Given the description of an element on the screen output the (x, y) to click on. 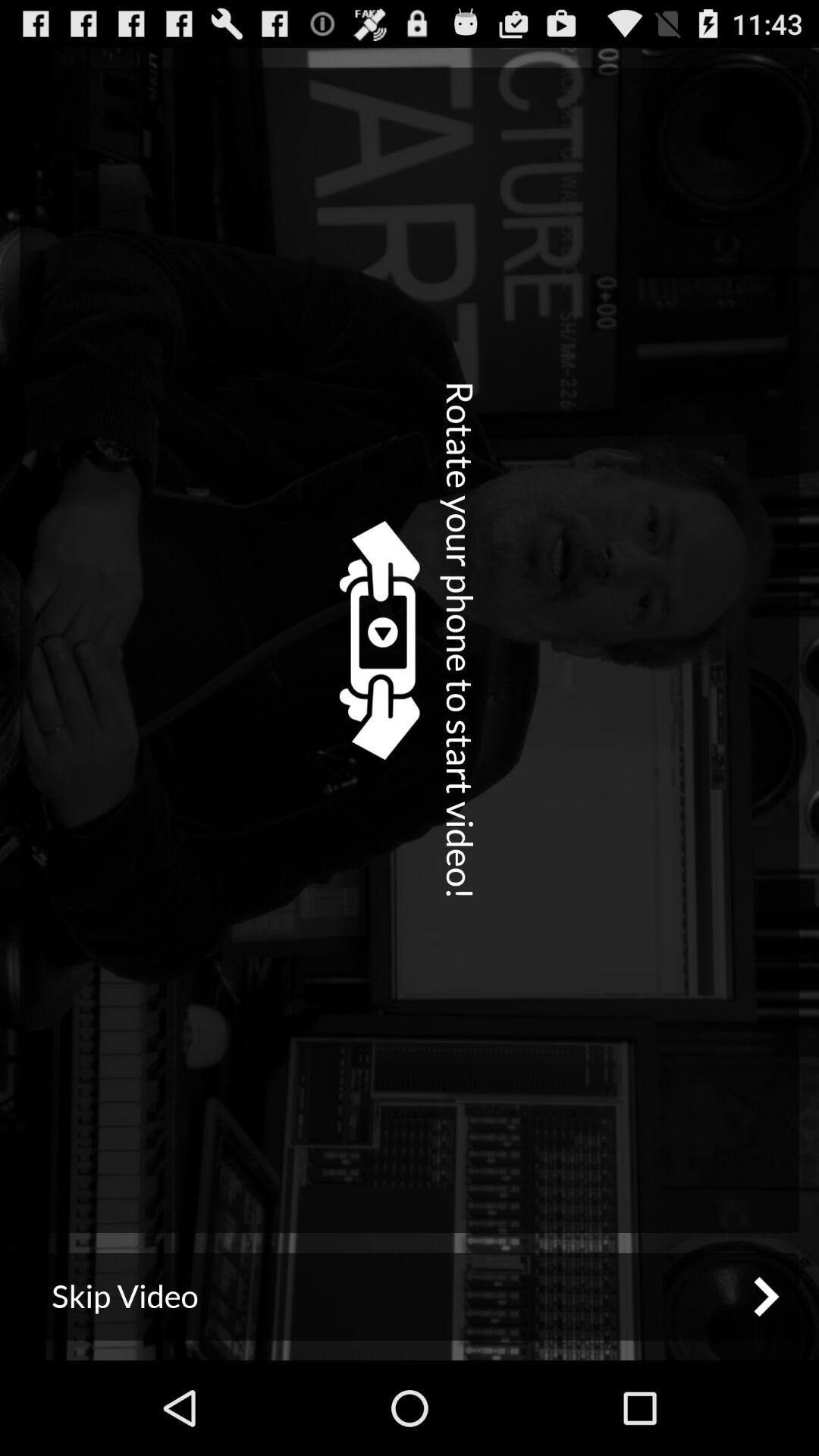
scroll to skip video icon (409, 1296)
